Given the description of an element on the screen output the (x, y) to click on. 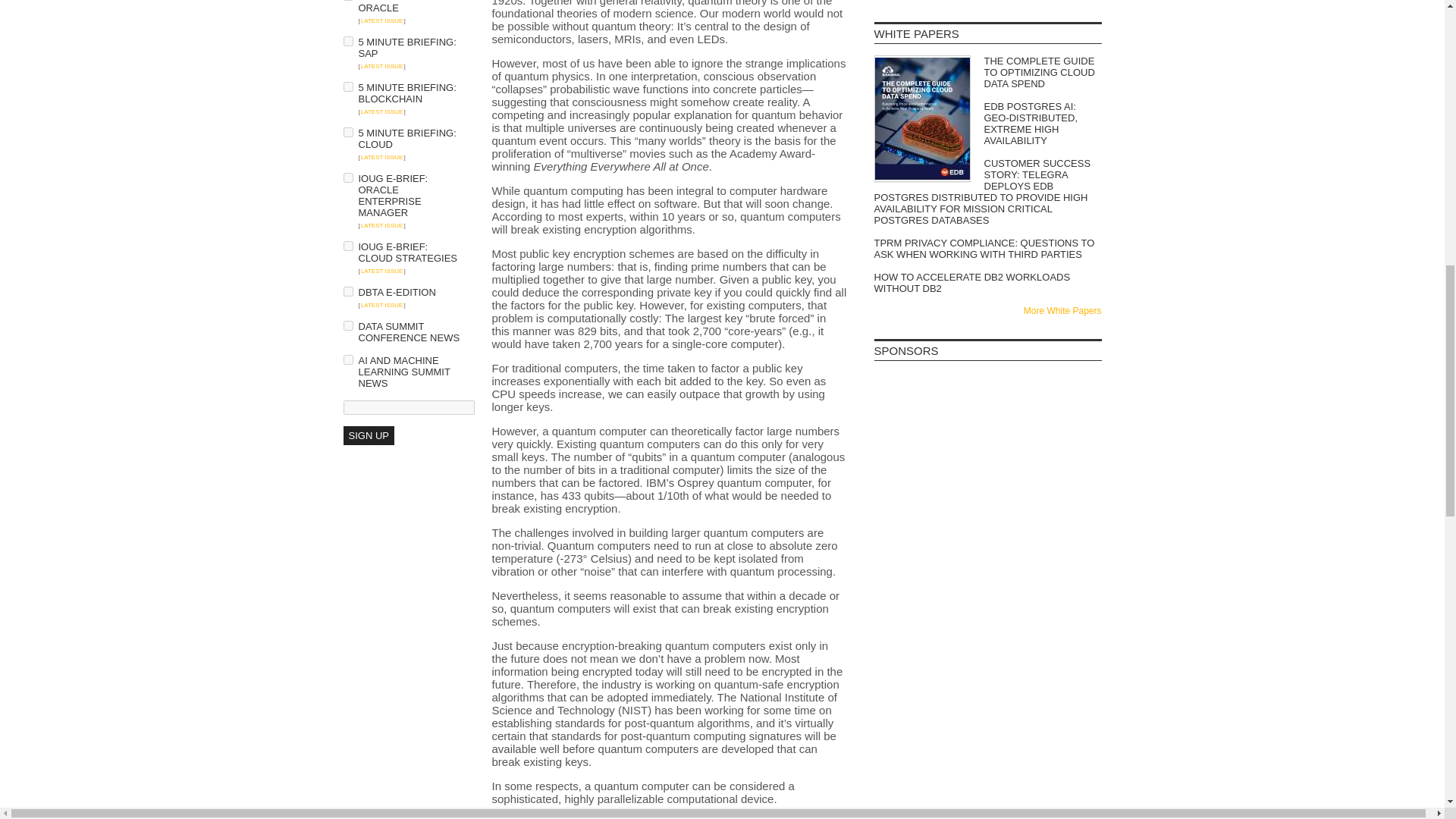
on (347, 291)
on (347, 359)
on (347, 325)
on (347, 40)
3rd party ad content (986, 591)
on (347, 132)
The Complete Guide to Optimizing Cloud Data Spend (986, 72)
on (347, 177)
EDB Postgres Ai: Geo-distributed, Extreme High Availability (986, 123)
